Given the description of an element on the screen output the (x, y) to click on. 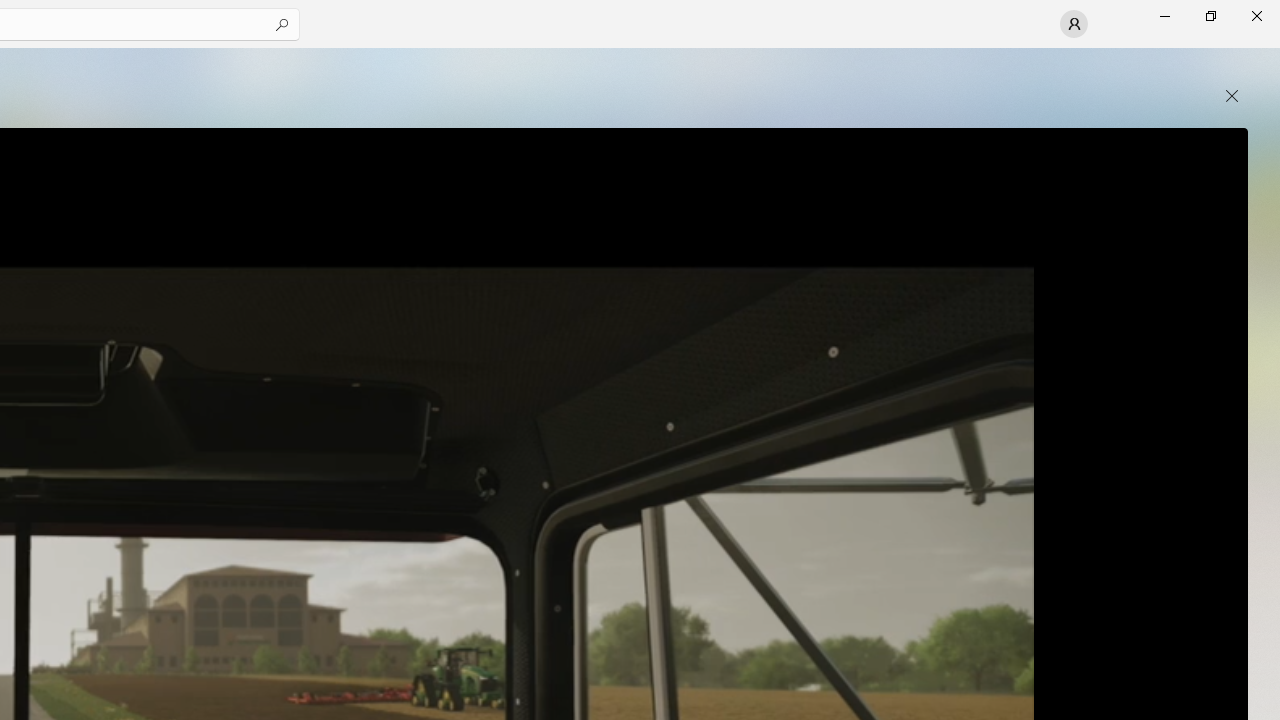
Restore Microsoft Store (1210, 15)
Close Microsoft Store (1256, 15)
User profile (1073, 24)
Minimize Microsoft Store (1164, 15)
close popup window (1232, 95)
